Given the description of an element on the screen output the (x, y) to click on. 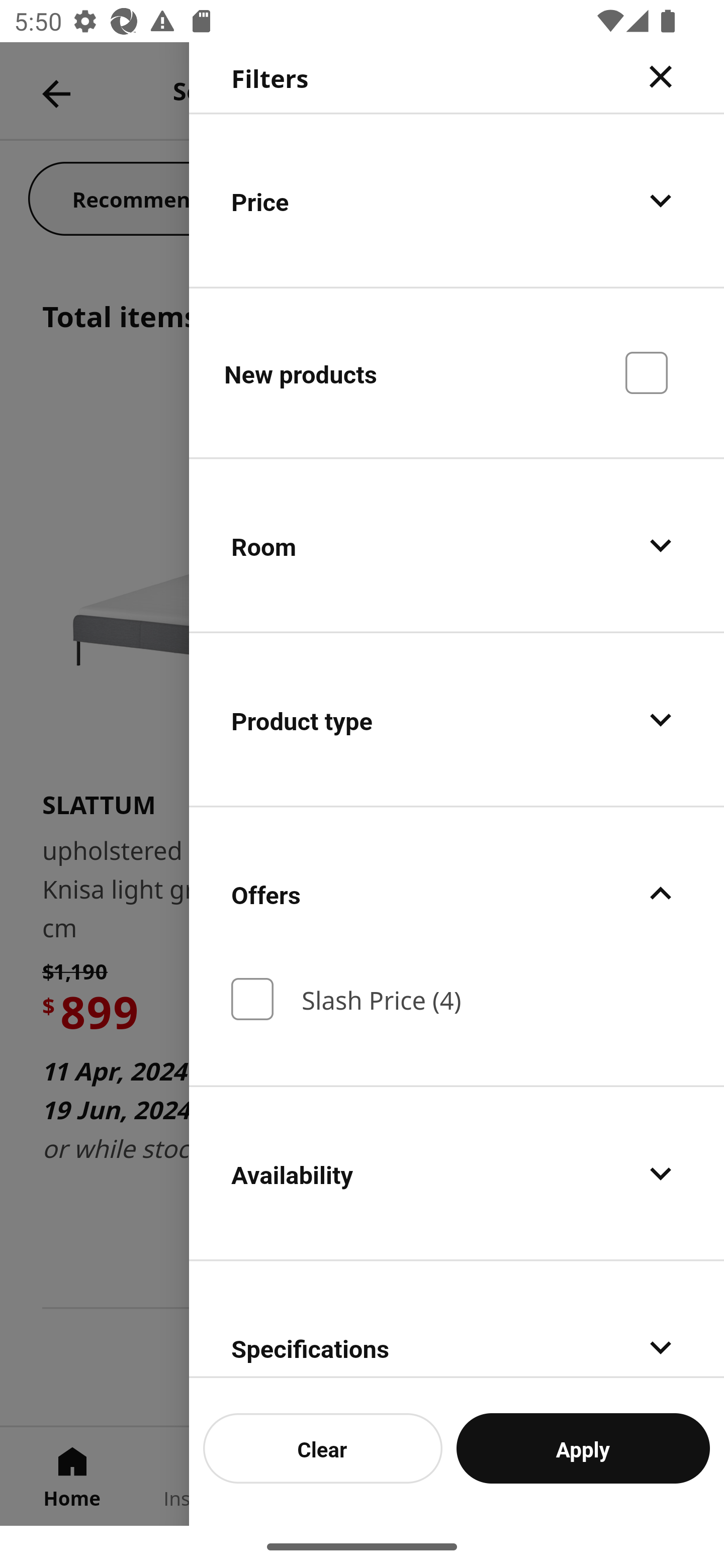
Price (456, 200)
New products (456, 371)
Room (456, 545)
Product type (456, 719)
Offers (456, 893)
Slash Price (4) (456, 999)
Availability (456, 1173)
Specifications (456, 1319)
Clear (322, 1447)
Apply (583, 1447)
